Given the description of an element on the screen output the (x, y) to click on. 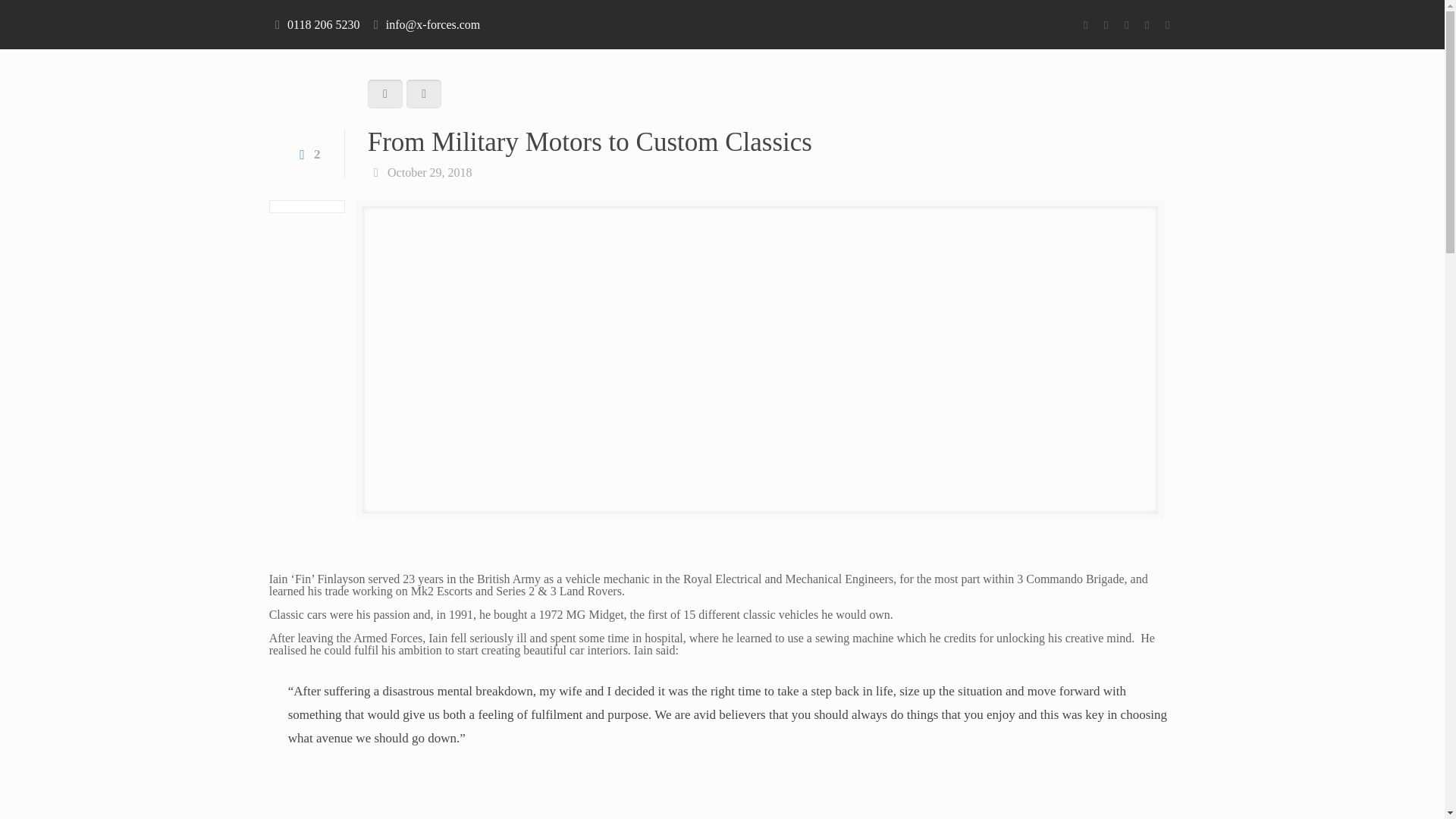
LinkedIn (1146, 24)
0118 206 5230 (322, 24)
YouTube (1126, 24)
Facebook (1085, 24)
Twitter (1105, 24)
Instagram (1166, 24)
